Given the description of an element on the screen output the (x, y) to click on. 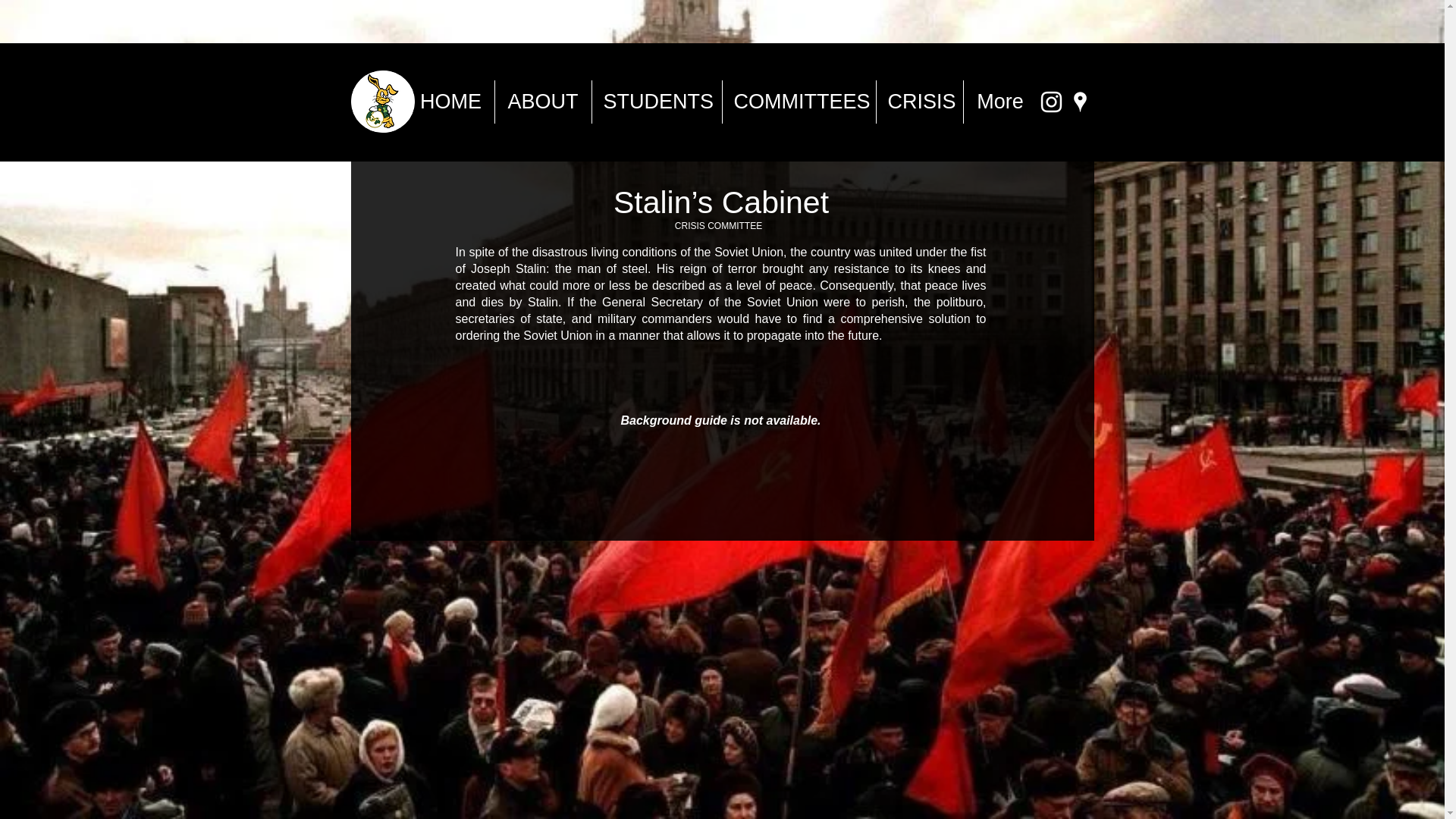
STUDENTS (655, 101)
HOME (451, 101)
CRISIS (919, 101)
ABOUT (543, 101)
COMMITTEES (798, 101)
